Given the description of an element on the screen output the (x, y) to click on. 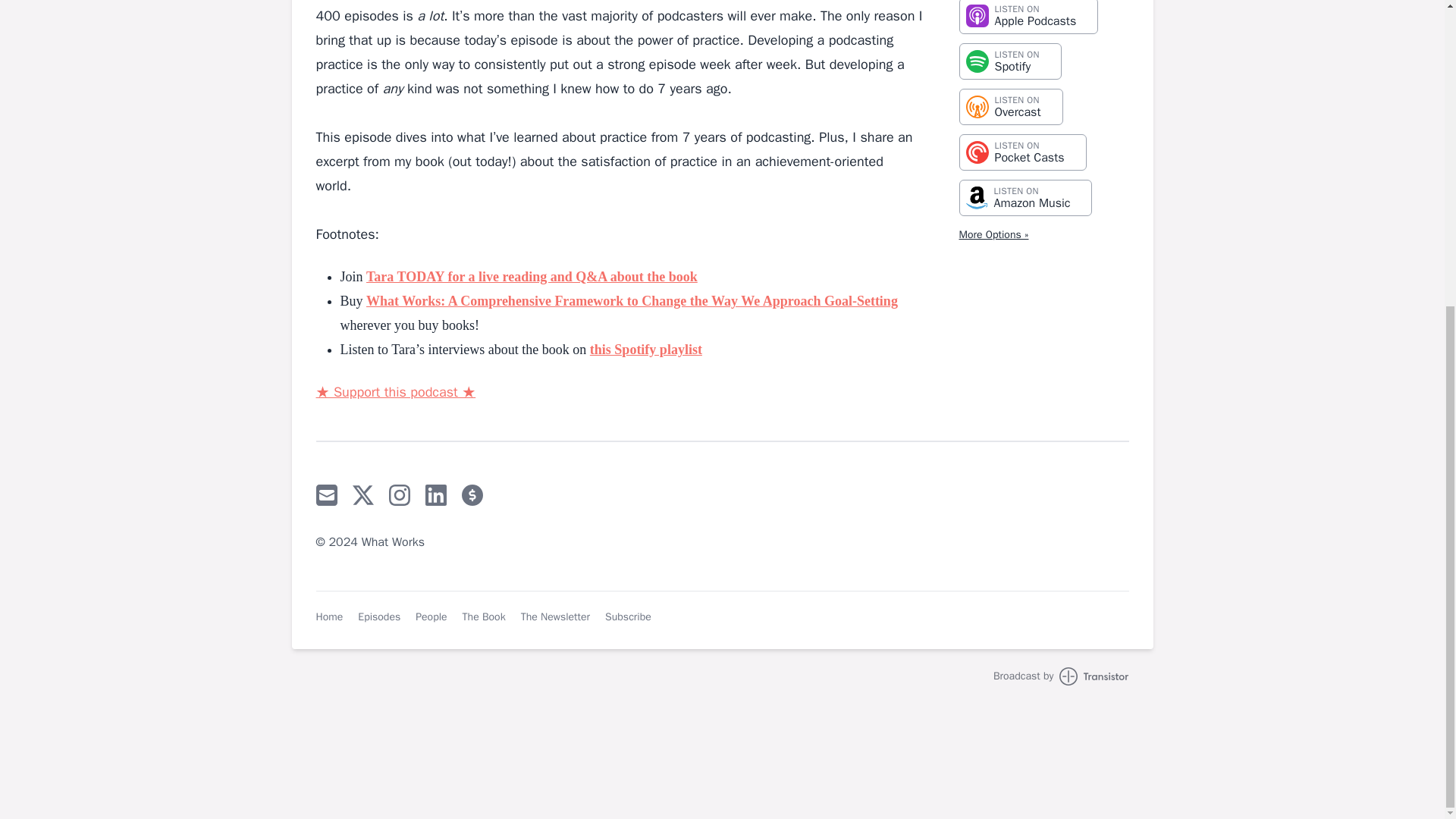
Episodes (1027, 17)
People (379, 616)
Listen to What Works on Overcast (430, 616)
this Spotify playlist (1010, 106)
Listen to What Works on Apple Podcasts (645, 349)
Broadcast by (1022, 152)
Subscribe (1027, 17)
Listen to What Works on Spotify (1060, 676)
The Book (627, 616)
Home (1009, 61)
